Given the description of an element on the screen output the (x, y) to click on. 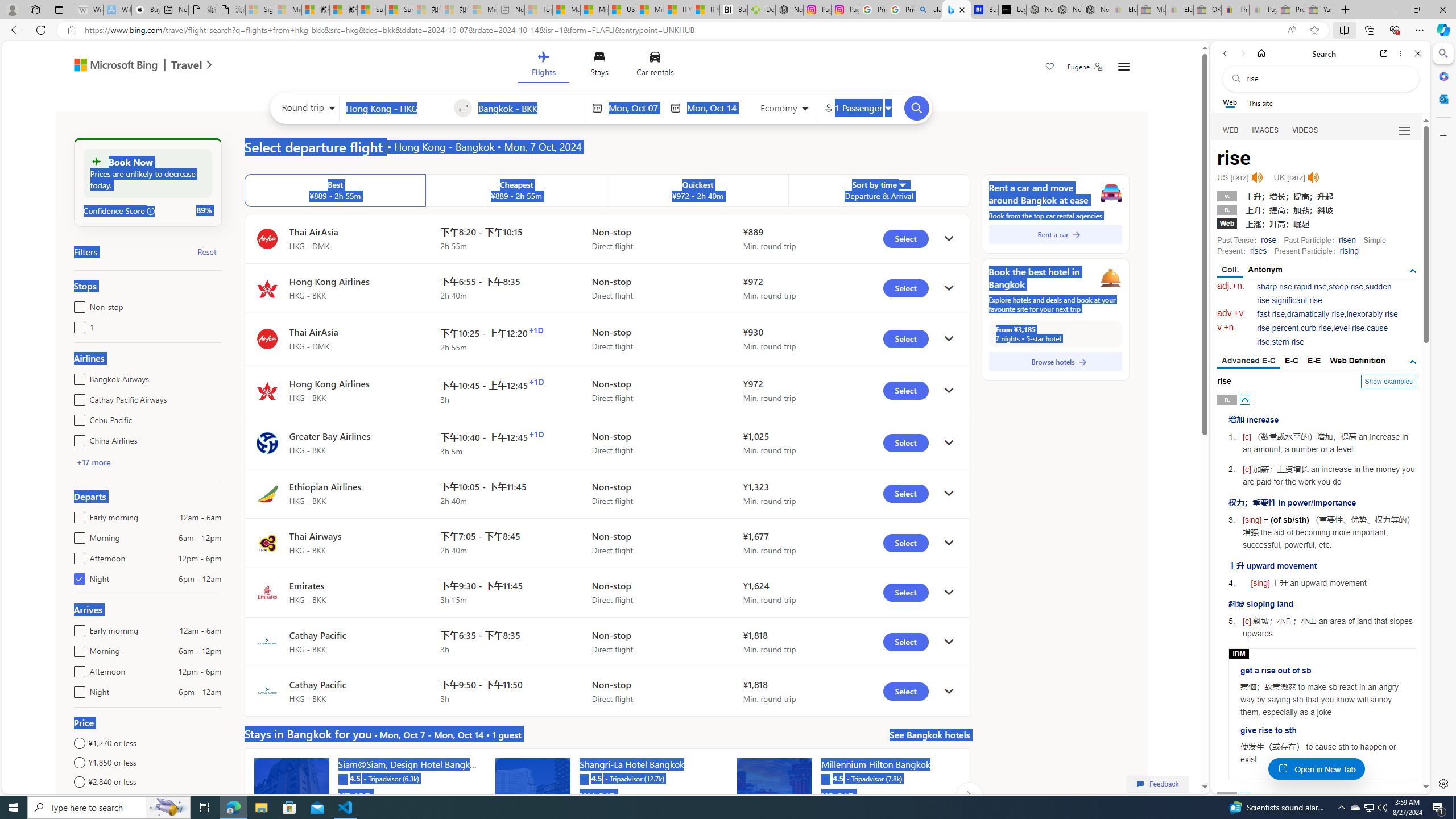
Reset (206, 251)
Flights (542, 65)
Open link in new tab (1383, 53)
Microsoft Bing Travel (130, 65)
Class: autosuggest-container full-height no-y-padding (528, 107)
